Given the description of an element on the screen output the (x, y) to click on. 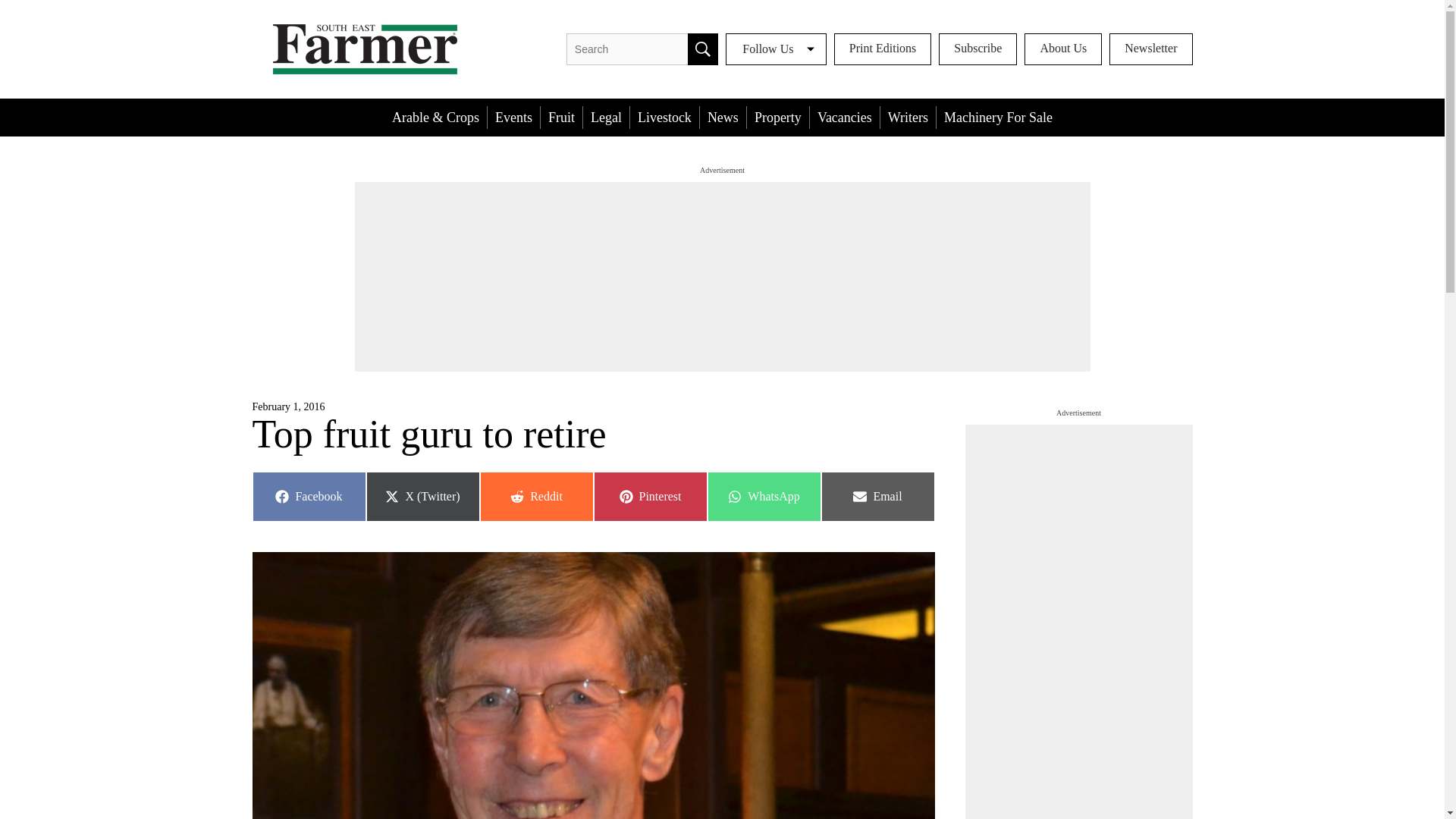
About Us (1063, 49)
Vacancies (844, 117)
Print Editions (882, 49)
Newsletter (1150, 49)
Legal (535, 496)
Fruit (605, 117)
News (308, 496)
Search (561, 117)
Subscribe (649, 496)
Property (722, 117)
